Given the description of an element on the screen output the (x, y) to click on. 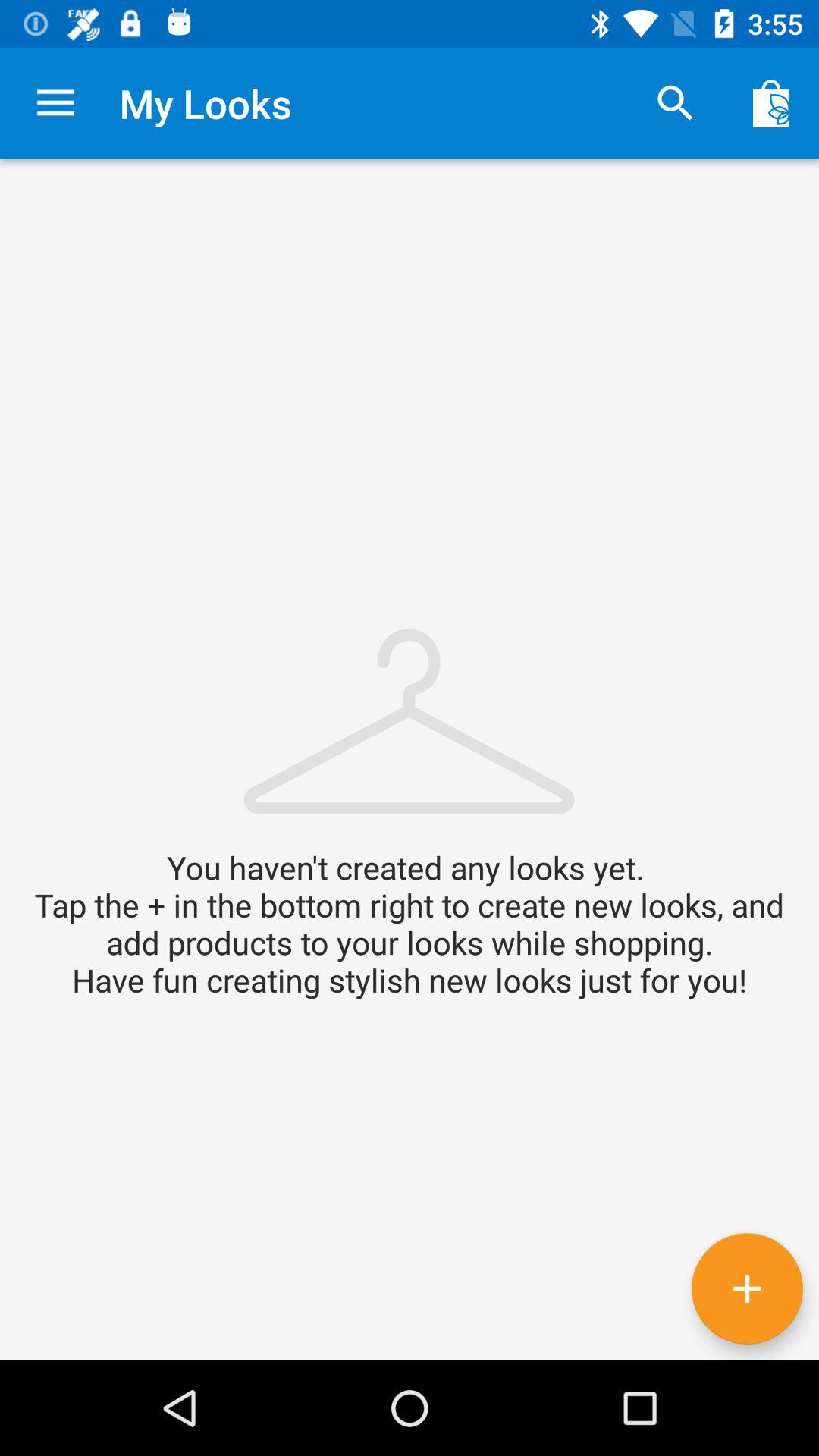
launch item to the left of the my looks app (55, 103)
